Given the description of an element on the screen output the (x, y) to click on. 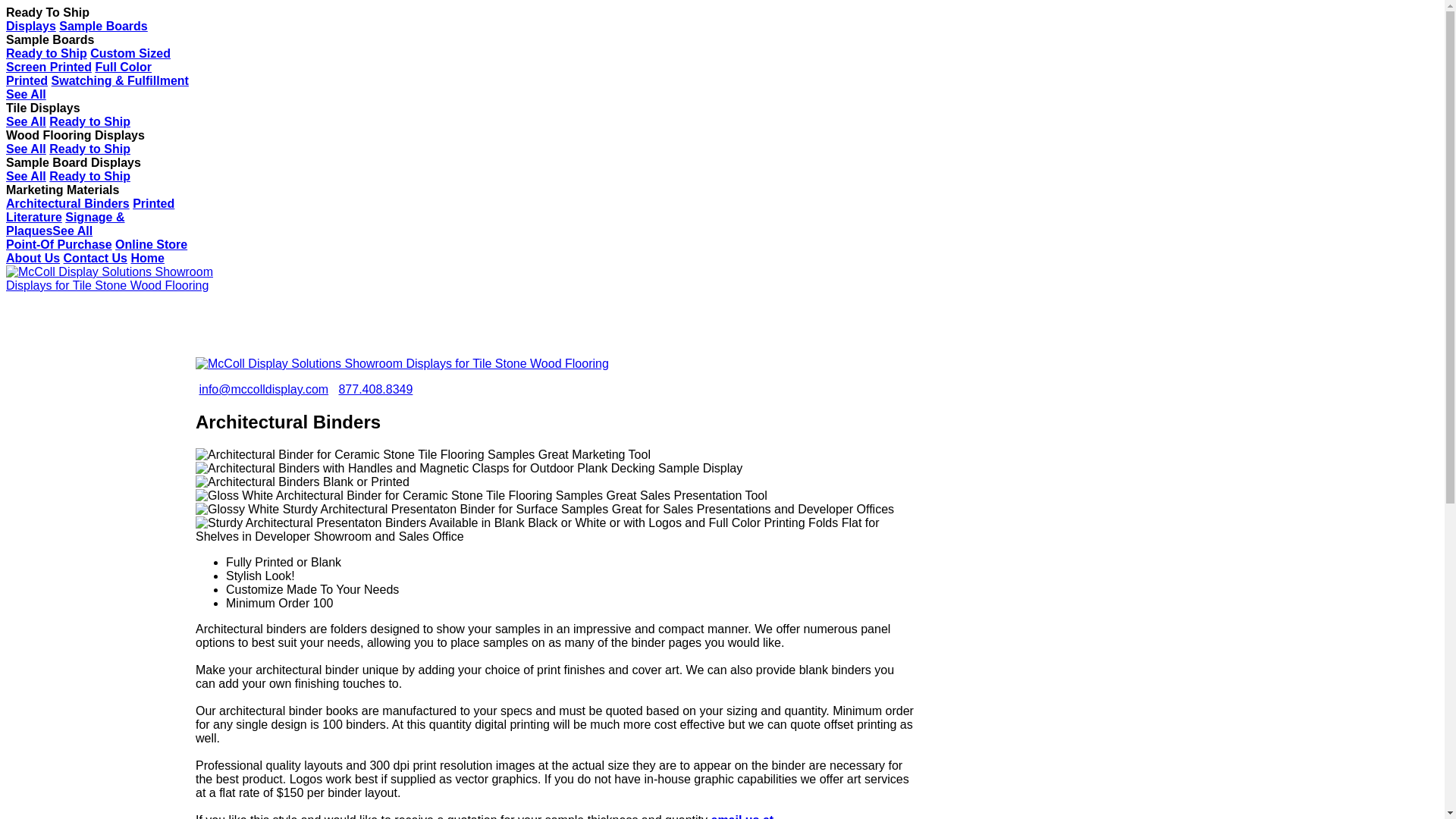
Wood Flooring Displays (74, 134)
Online Store (151, 244)
See All (25, 148)
Printed Literature (89, 210)
Architectural Binders (67, 203)
Ready to Ship (90, 121)
Tile Displays (42, 107)
Marketing Materials (62, 189)
Point-Of Purchase (58, 244)
Contact Us (96, 257)
Ready to Ship (90, 148)
Full Color Printed (78, 73)
Displays (30, 25)
Sample Boards (103, 25)
Ready to Ship (90, 175)
